Given the description of an element on the screen output the (x, y) to click on. 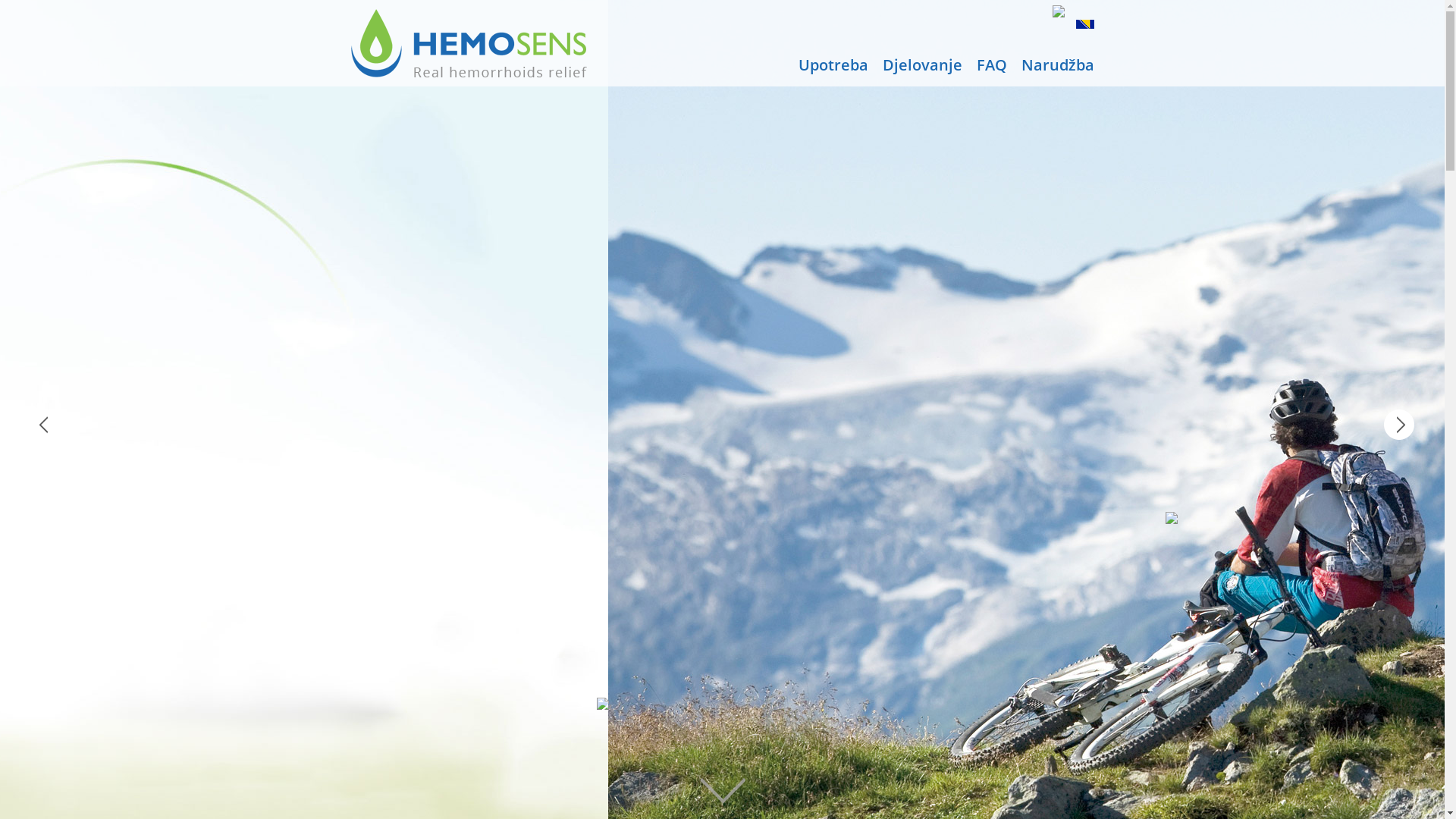
Djelovanje Element type: text (922, 64)
Upotreba Element type: text (832, 64)
FAQ Element type: text (991, 64)
